Given the description of an element on the screen output the (x, y) to click on. 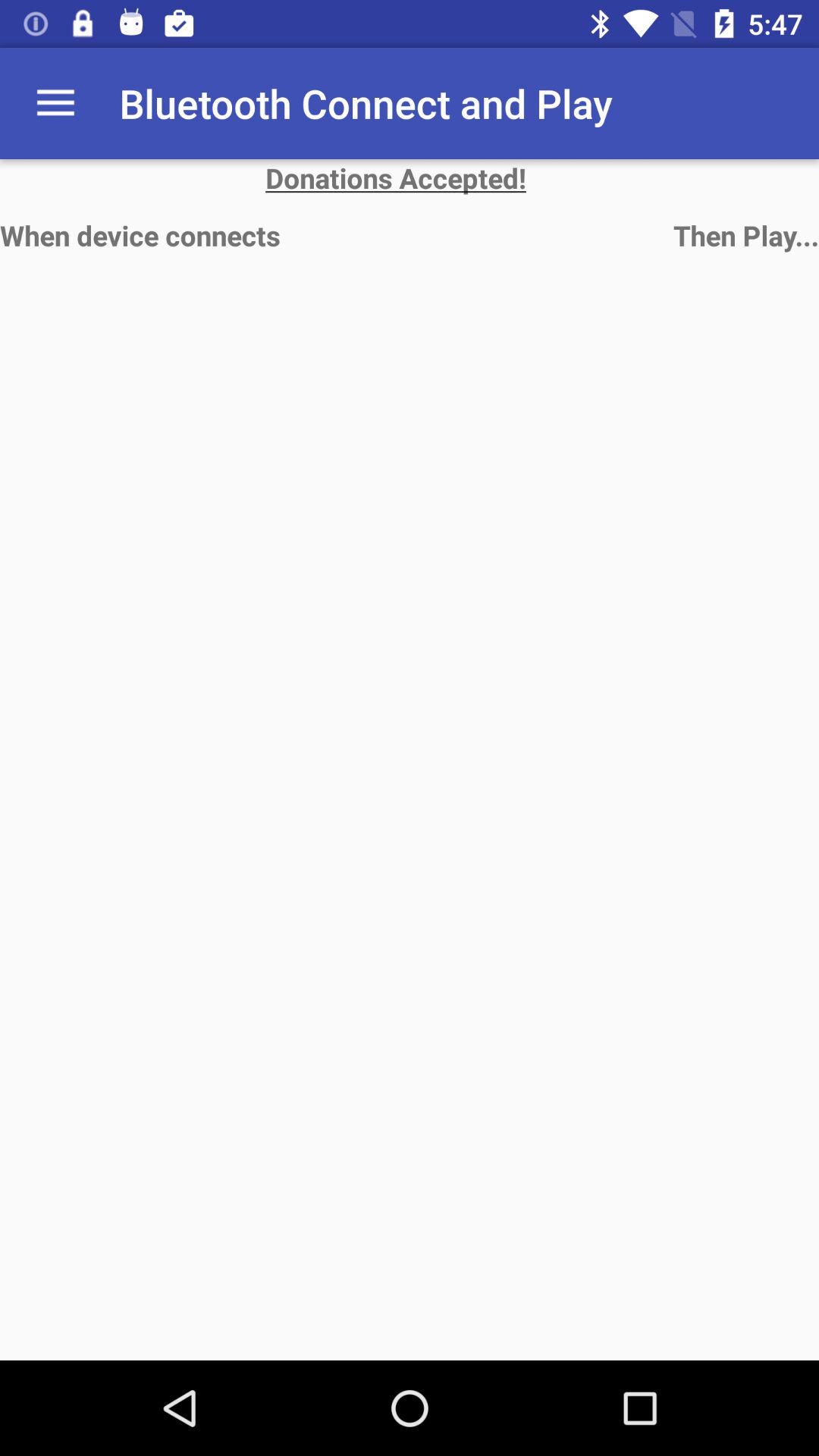
launch the item to the left of bluetooth connect and icon (55, 103)
